Given the description of an element on the screen output the (x, y) to click on. 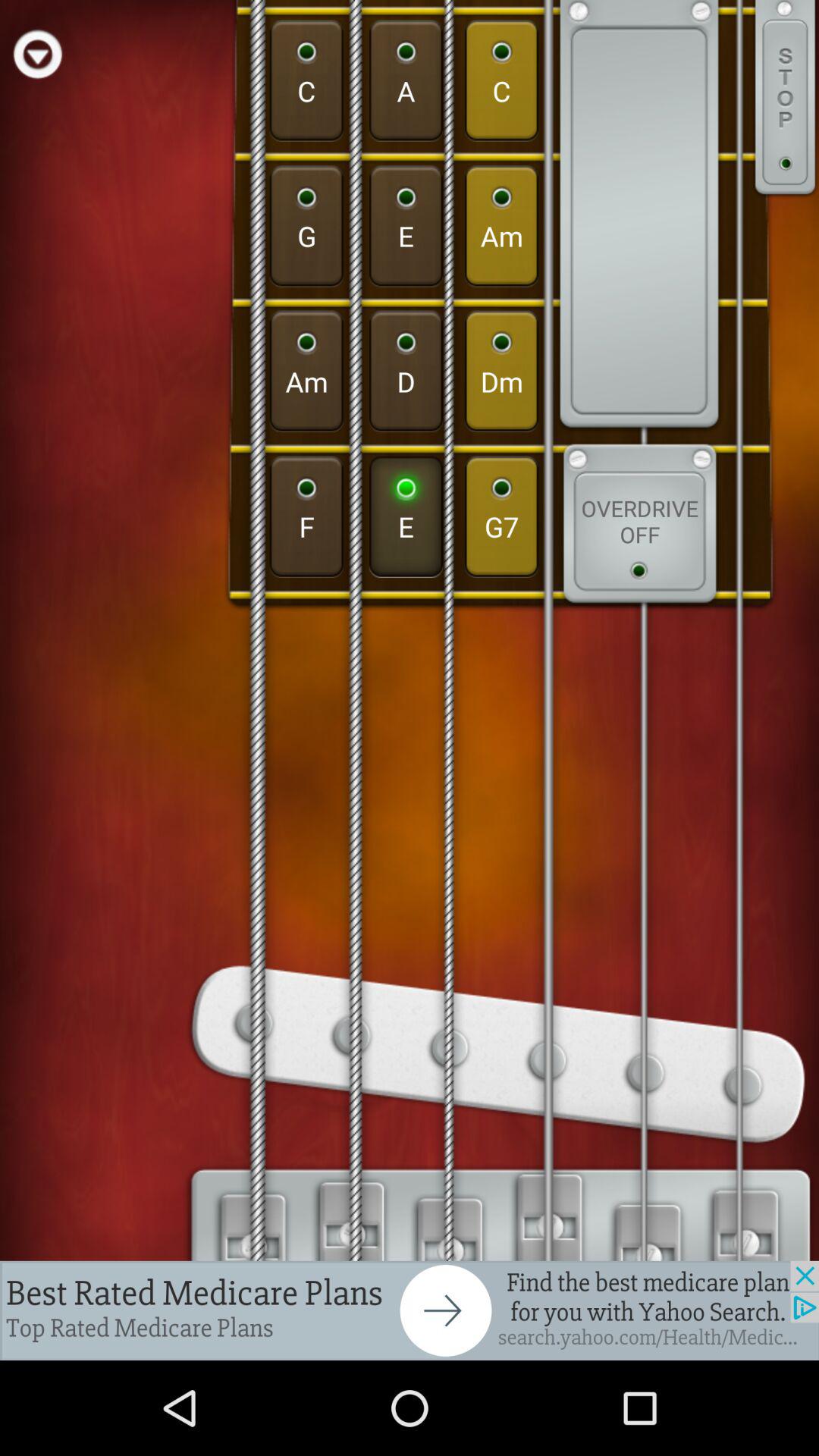
play (37, 53)
